Given the description of an element on the screen output the (x, y) to click on. 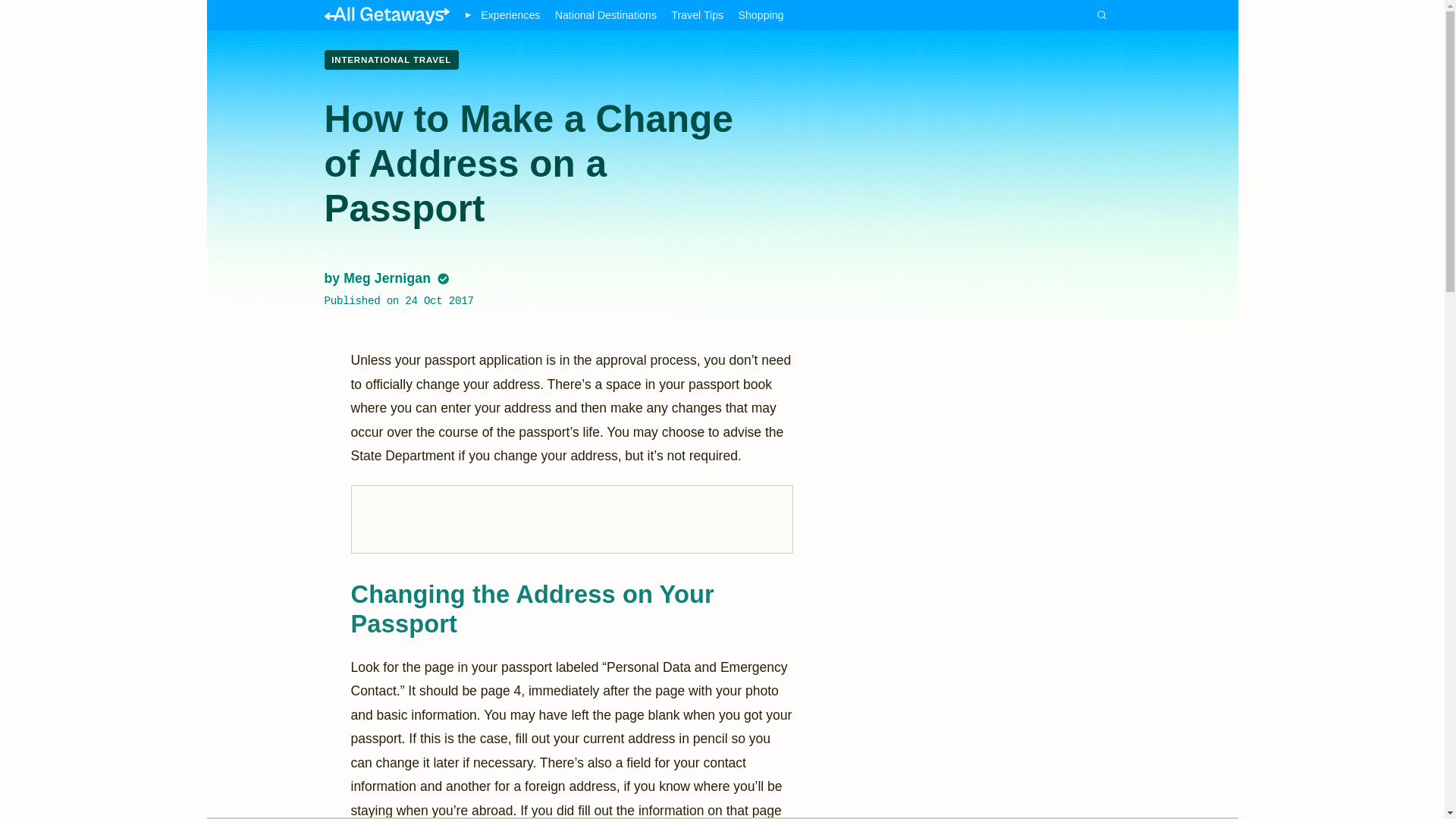
Experiences (510, 15)
National Destinations (605, 15)
Travel Tips (697, 15)
